Given the description of an element on the screen output the (x, y) to click on. 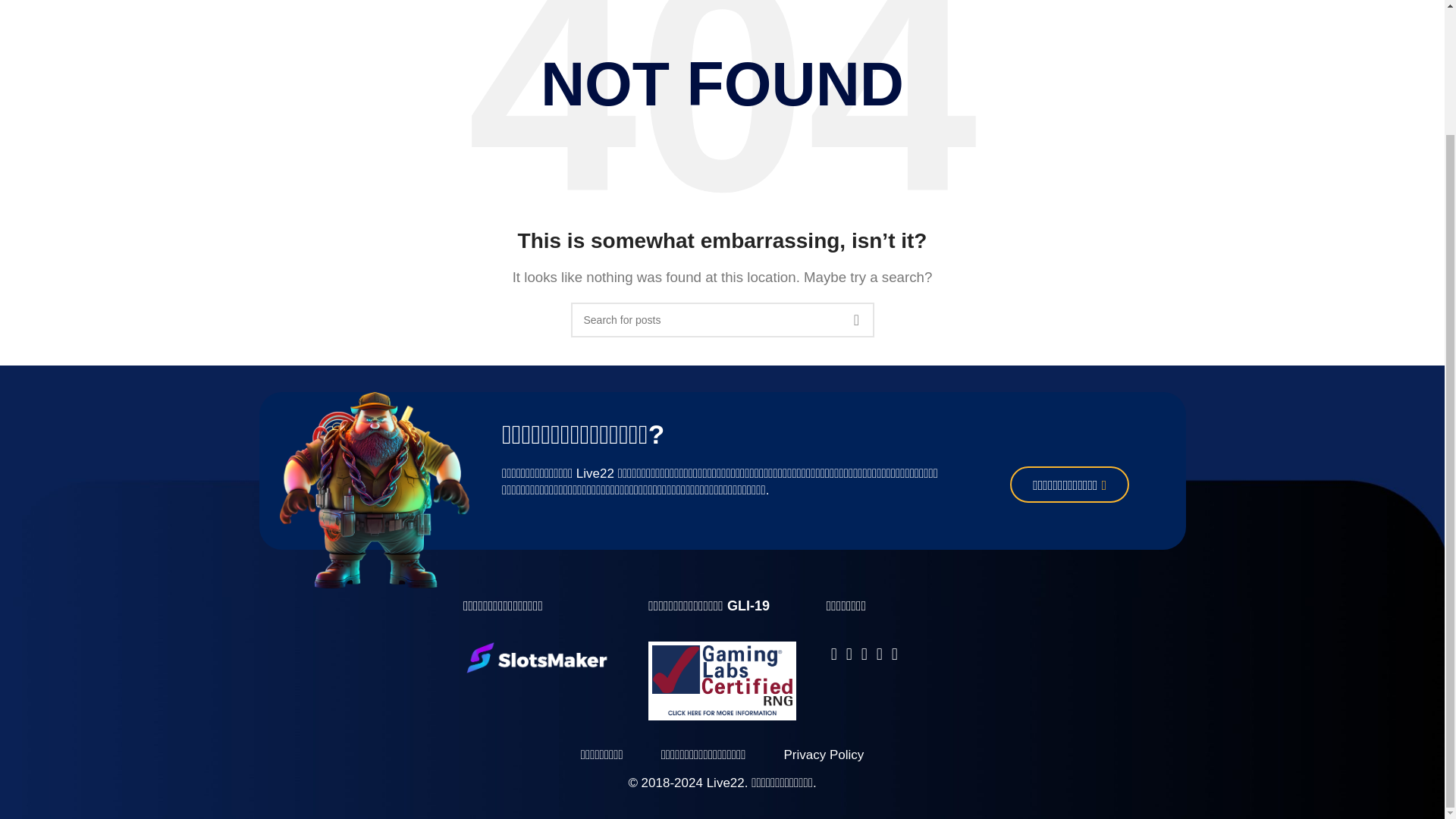
Contact Us (1069, 484)
Search for posts (721, 319)
slotsmaker-logo (536, 657)
